Given the description of an element on the screen output the (x, y) to click on. 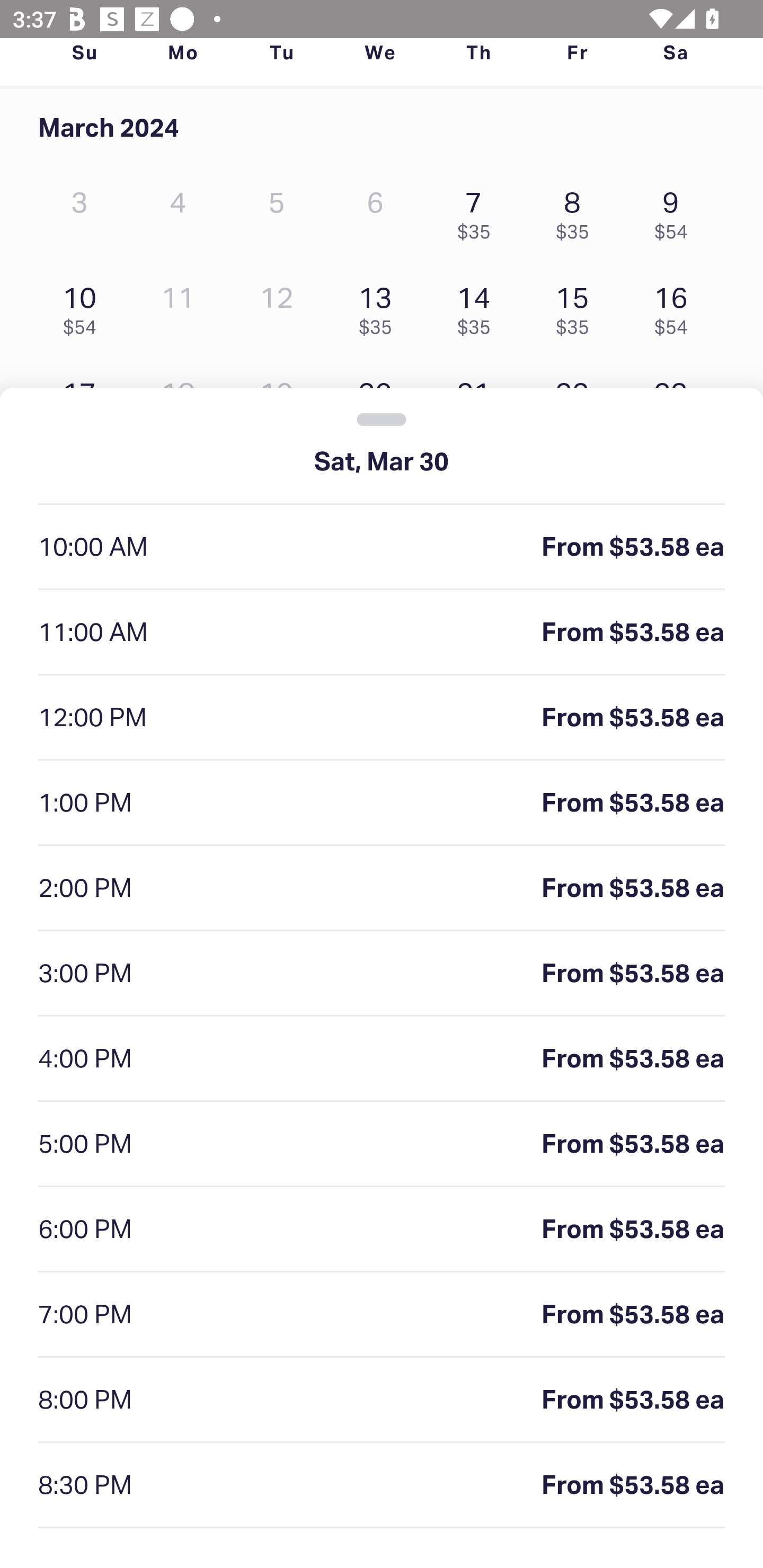
7 $35 (478, 210)
8 $35 (577, 210)
9 $54 (675, 210)
10 $54 (84, 306)
13 $35 (379, 306)
14 $35 (478, 306)
15 $35 (577, 306)
16 $54 (675, 306)
10:00 AM From $53.58 ea (381, 546)
11:00 AM From $53.58 ea (381, 632)
12:00 PM From $53.58 ea (381, 717)
1:00 PM From $53.58 ea (381, 803)
2:00 PM From $53.58 ea (381, 888)
3:00 PM From $53.58 ea (381, 973)
4:00 PM From $53.58 ea (381, 1059)
5:00 PM From $53.58 ea (381, 1144)
6:00 PM From $53.58 ea (381, 1228)
7:00 PM From $53.58 ea (381, 1314)
8:00 PM From $53.58 ea (381, 1399)
8:30 PM From $53.58 ea (381, 1485)
